Given the description of an element on the screen output the (x, y) to click on. 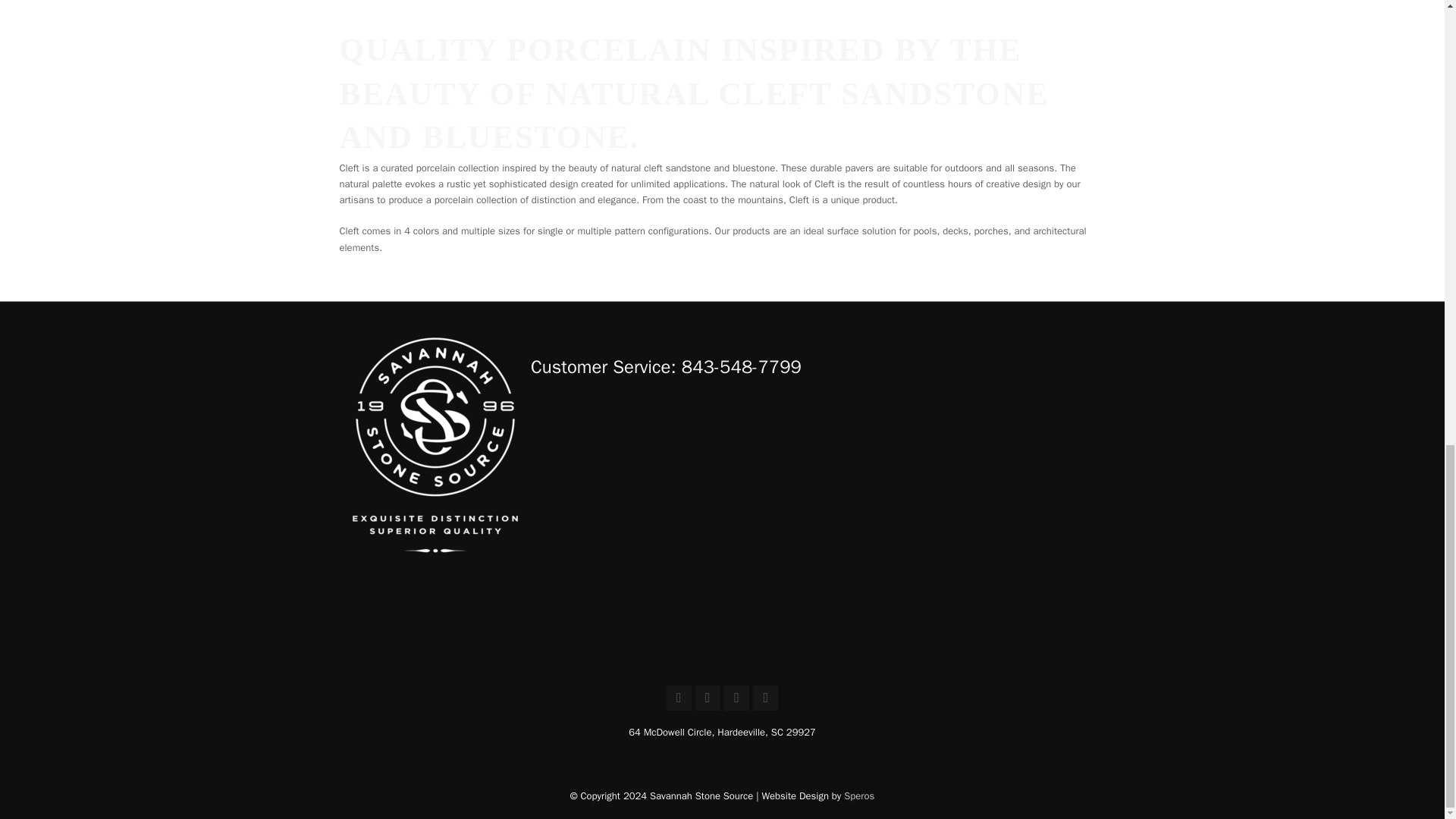
LinkedIn (764, 697)
Pinterest (736, 697)
Speros (859, 795)
Pinterest (736, 697)
Facebook (678, 697)
LinkedIn (764, 697)
Instagram (707, 697)
Facebook (678, 697)
Instagram (707, 697)
